Given the description of an element on the screen output the (x, y) to click on. 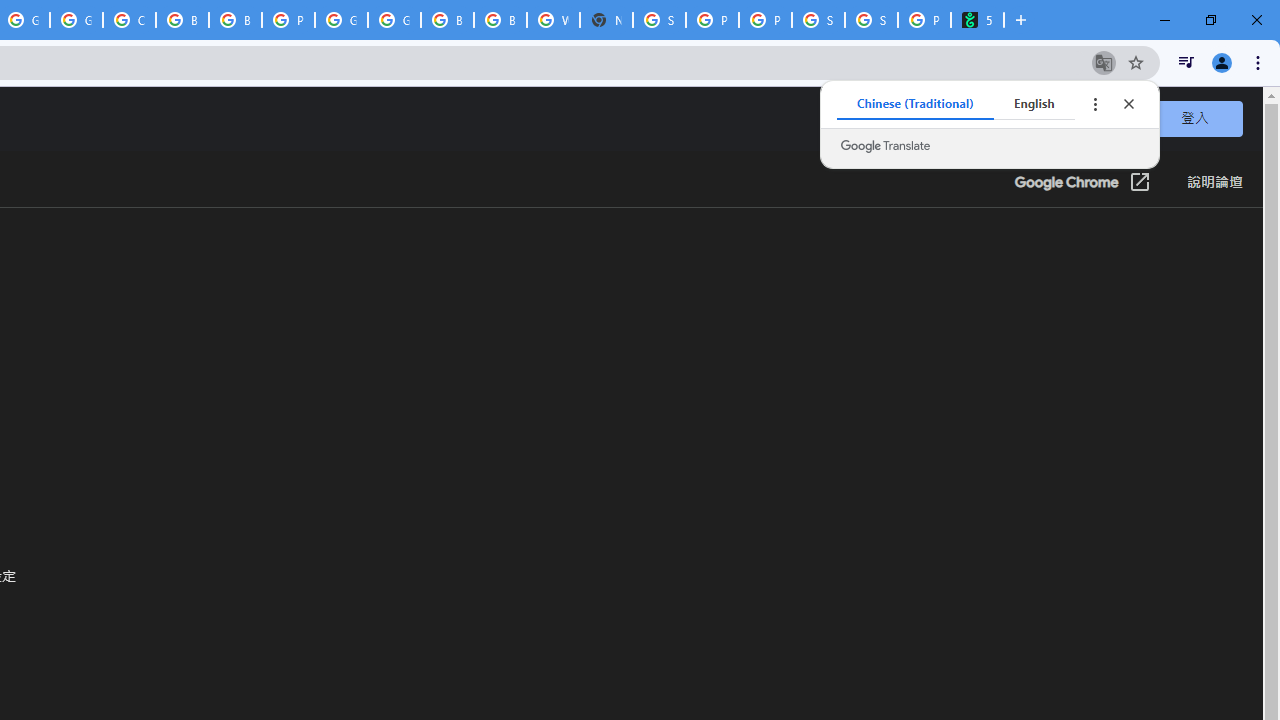
English (1034, 103)
New Tab (606, 20)
